Given the description of an element on the screen output the (x, y) to click on. 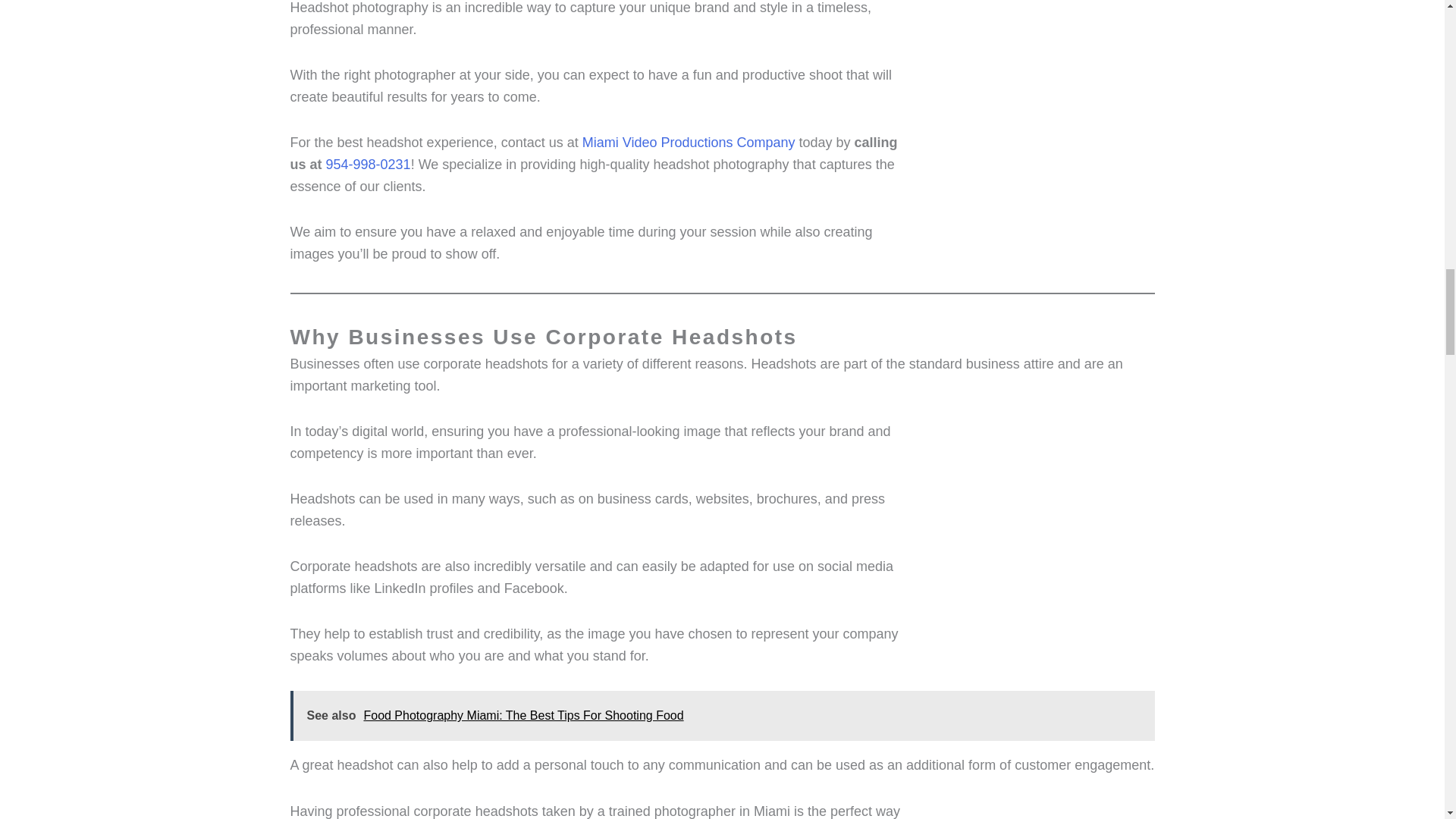
Miami Video Productions Company (688, 142)
4 Reasons To Use Headshot Photography Miami 9 (1040, 534)
4 Reasons To Use Headshot Photography Miami 11 (1040, 809)
954-998-0231 (368, 164)
4 Reasons To Use Headshot Photography Miami 7 (1040, 112)
